Given the description of an element on the screen output the (x, y) to click on. 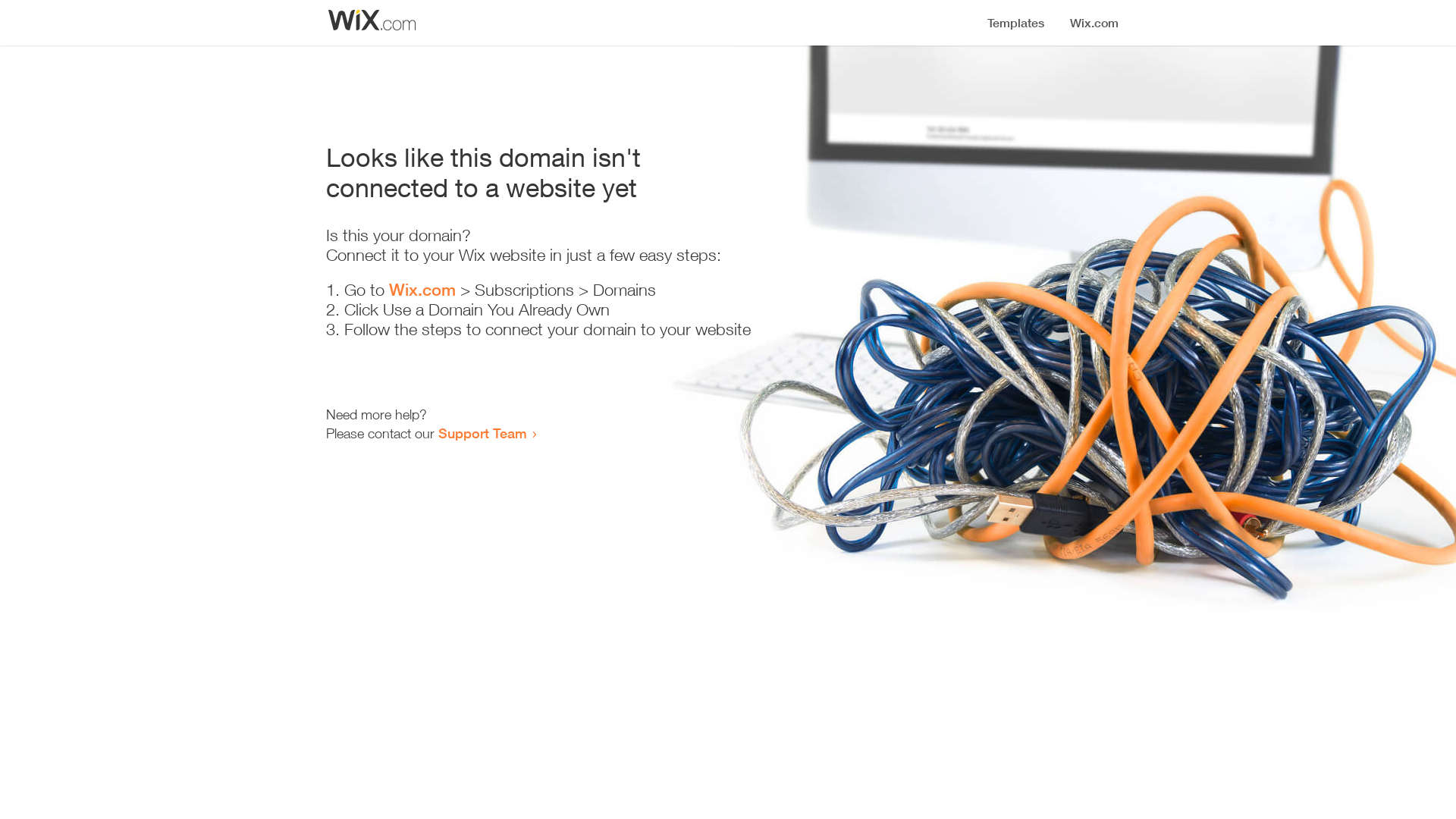
Wix.com Element type: text (422, 289)
Support Team Element type: text (482, 432)
